Given the description of an element on the screen output the (x, y) to click on. 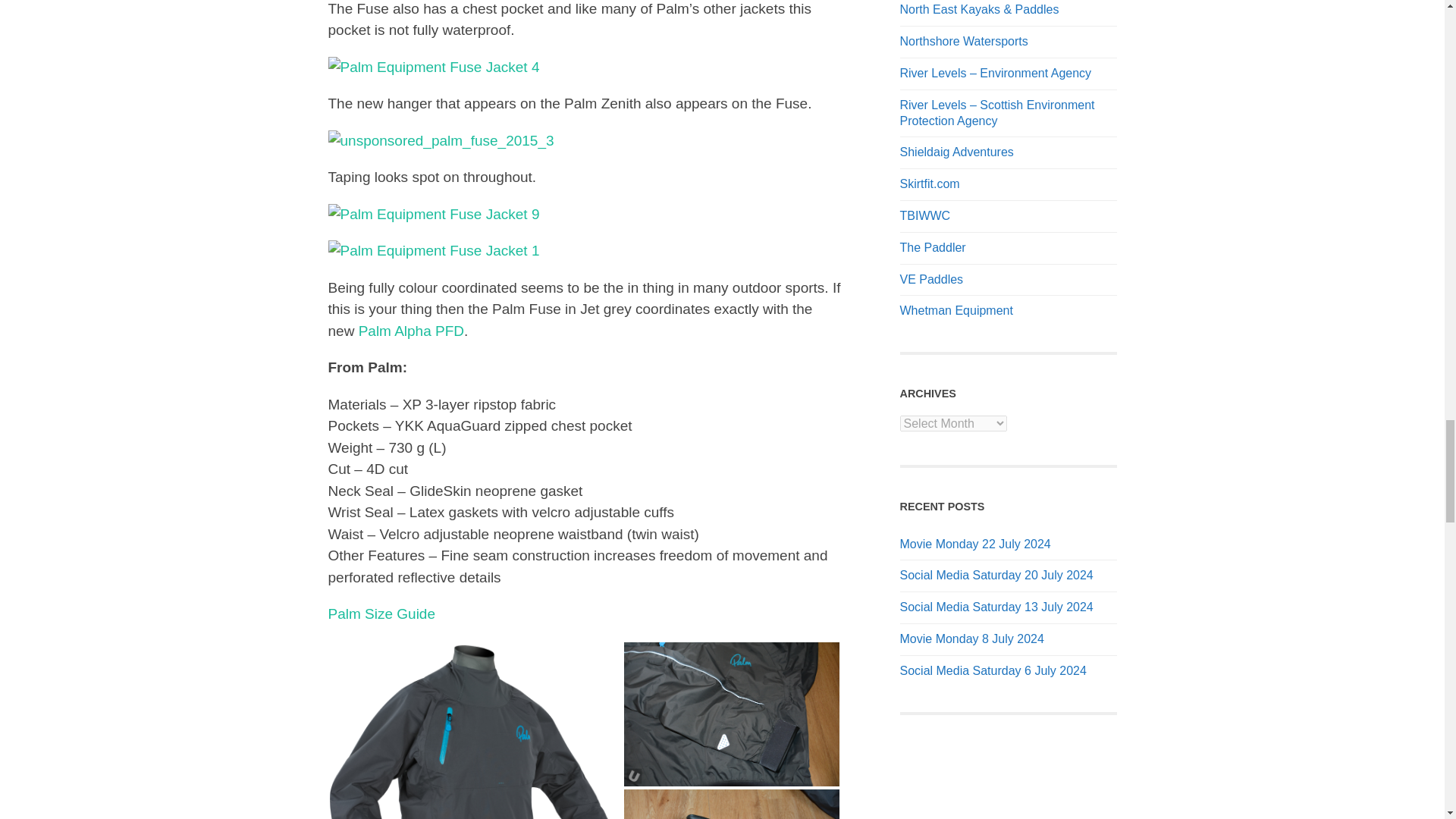
palm-fuse-cag-jet-grey-l (474, 730)
